Given the description of an element on the screen output the (x, y) to click on. 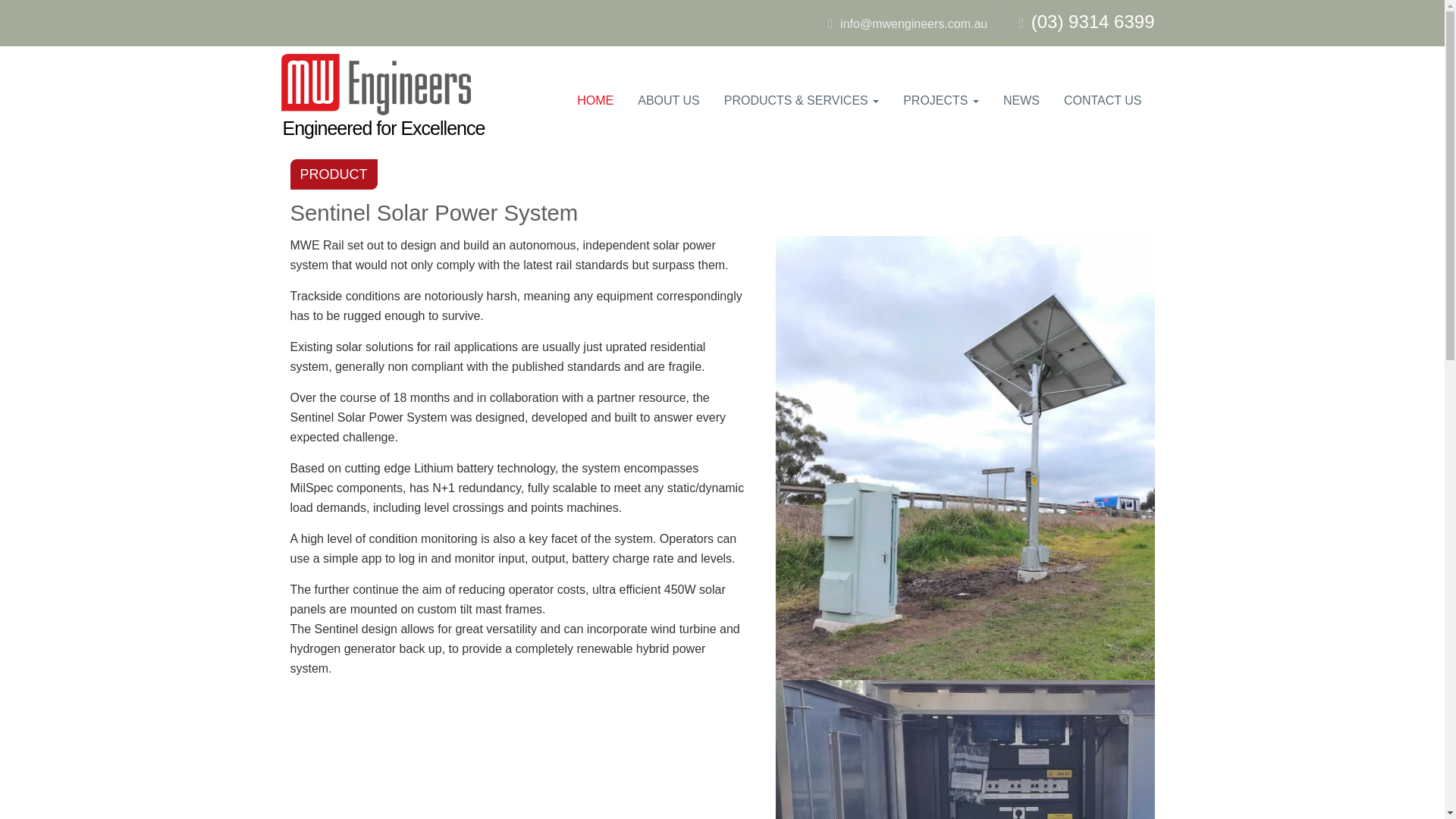
ABOUT US (668, 100)
CONTACT US (1102, 100)
HOME (595, 100)
back to home page (375, 84)
NEWS (1021, 100)
PROJECTS (941, 100)
